Given the description of an element on the screen output the (x, y) to click on. 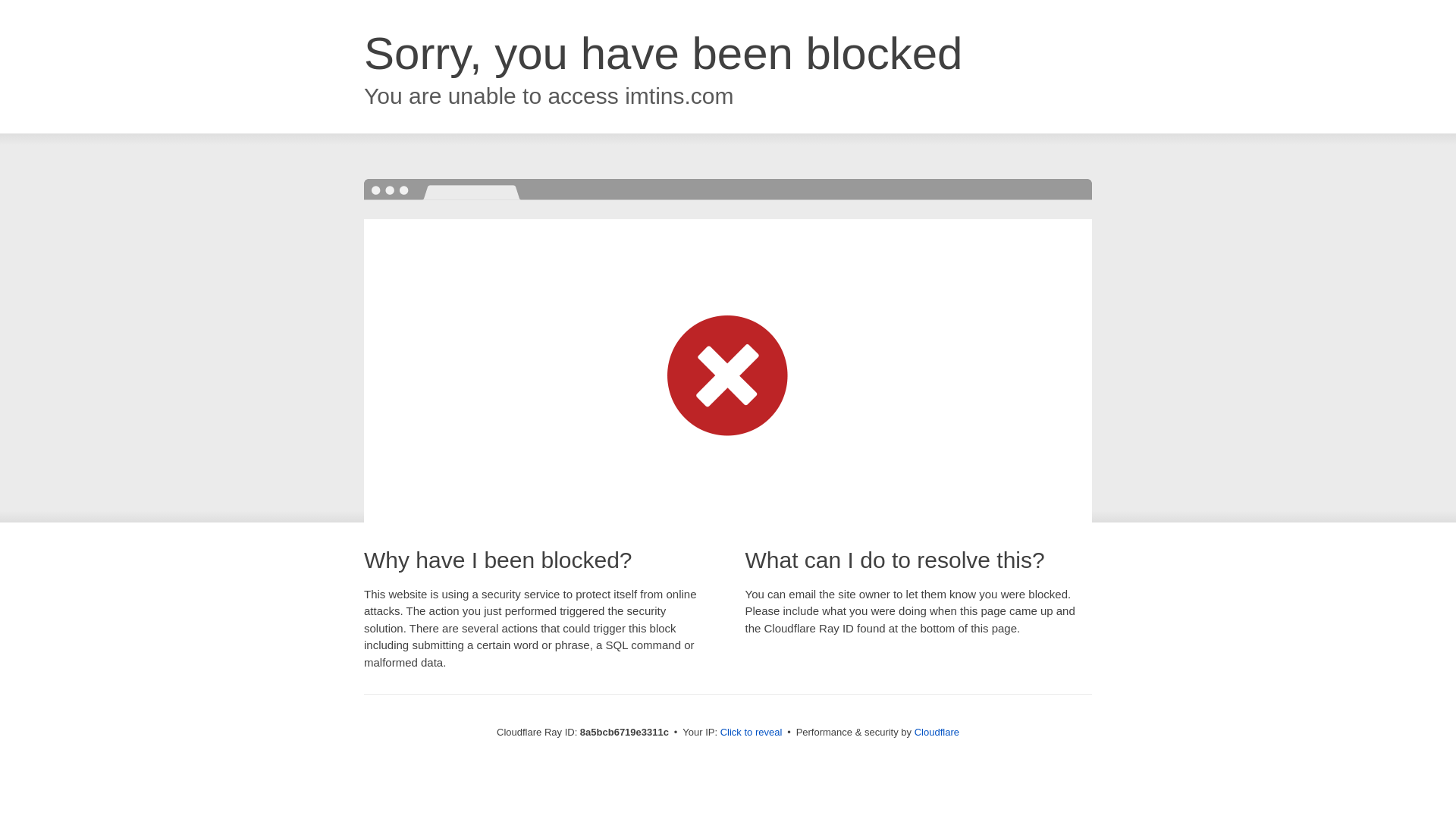
Cloudflare (936, 731)
Click to reveal (751, 732)
